Given the description of an element on the screen output the (x, y) to click on. 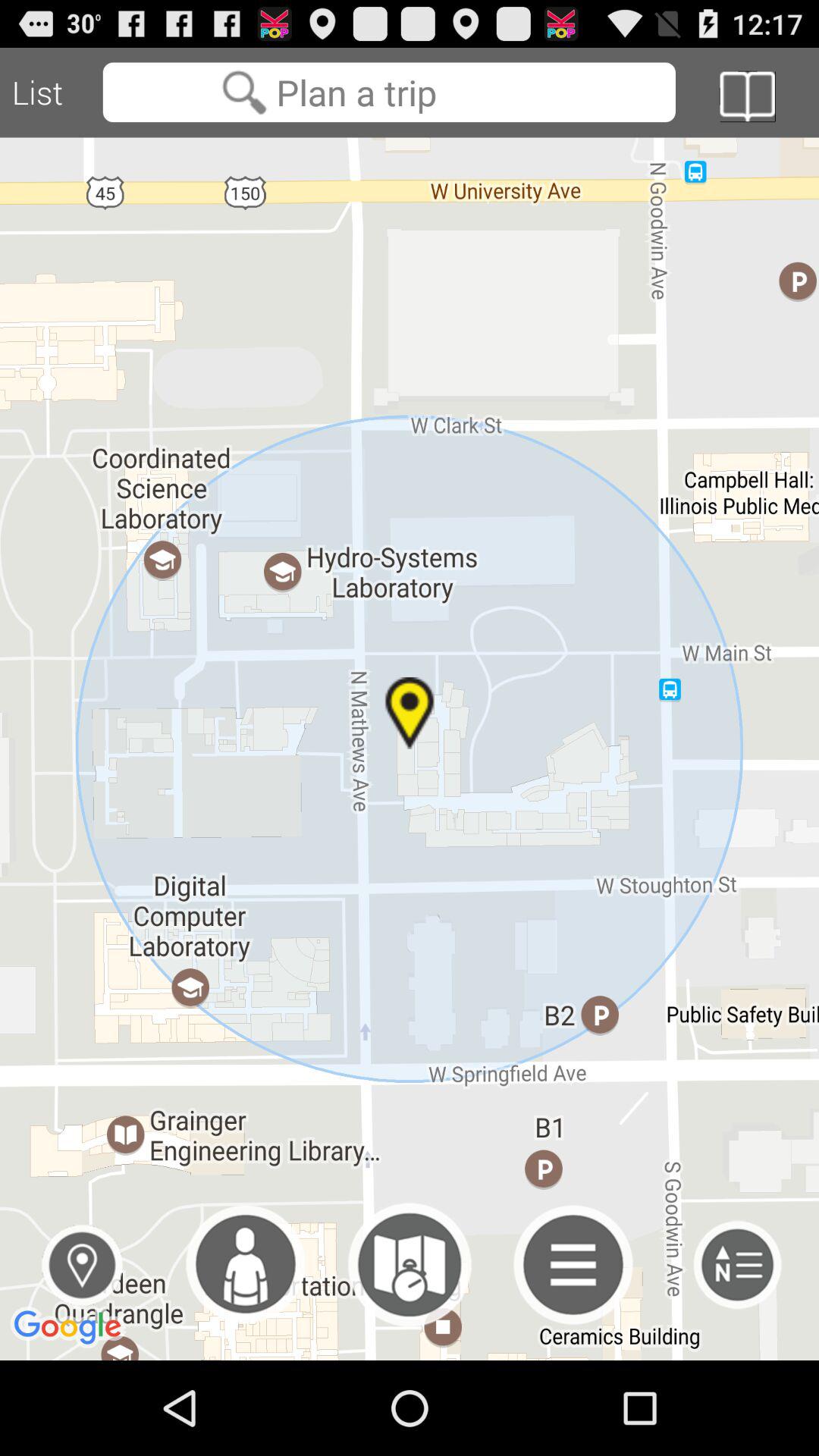
select app below list icon (81, 1264)
